Given the description of an element on the screen output the (x, y) to click on. 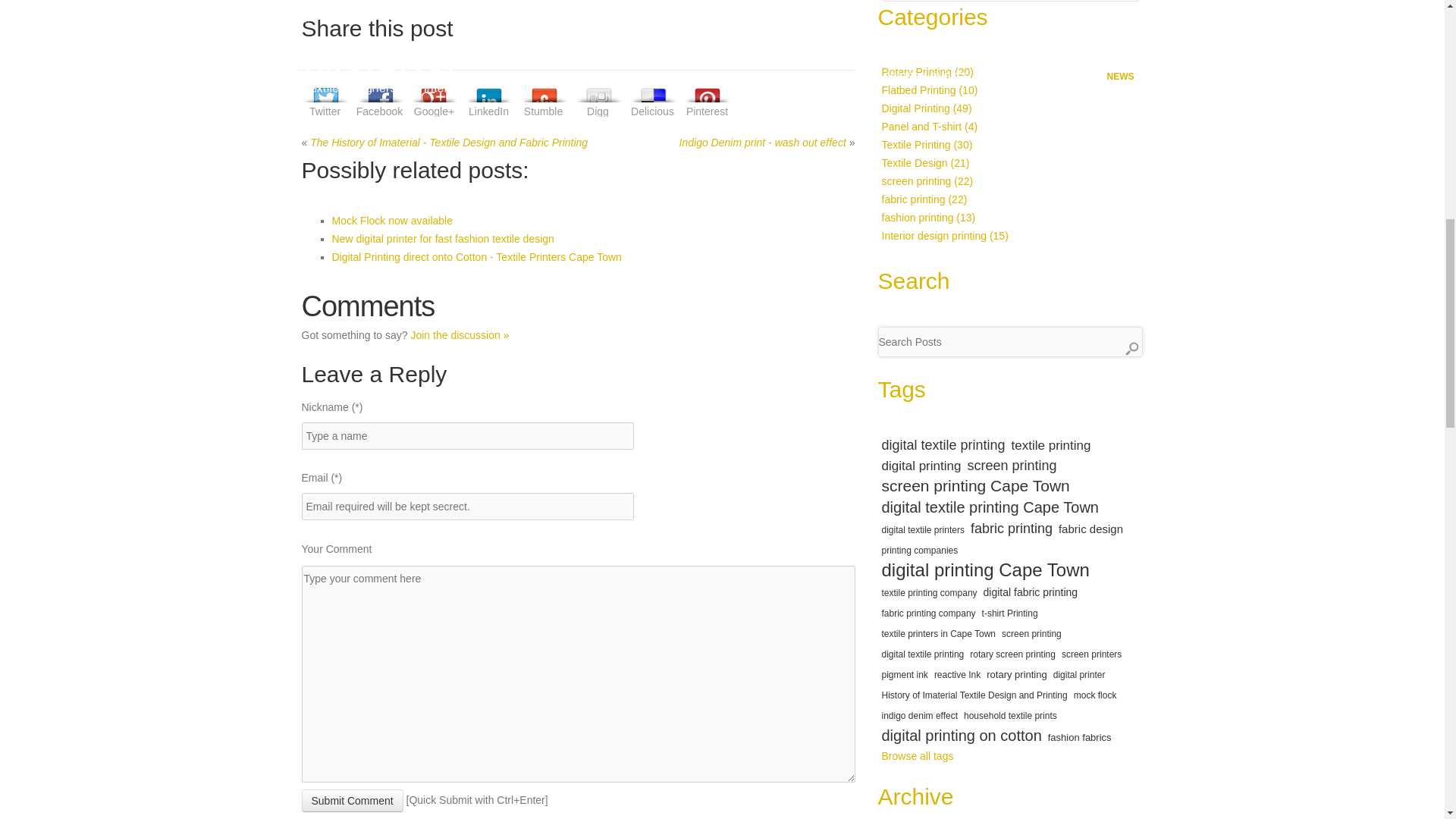
Tweet This! (324, 98)
Share this on Facebook (379, 98)
